Given the description of an element on the screen output the (x, y) to click on. 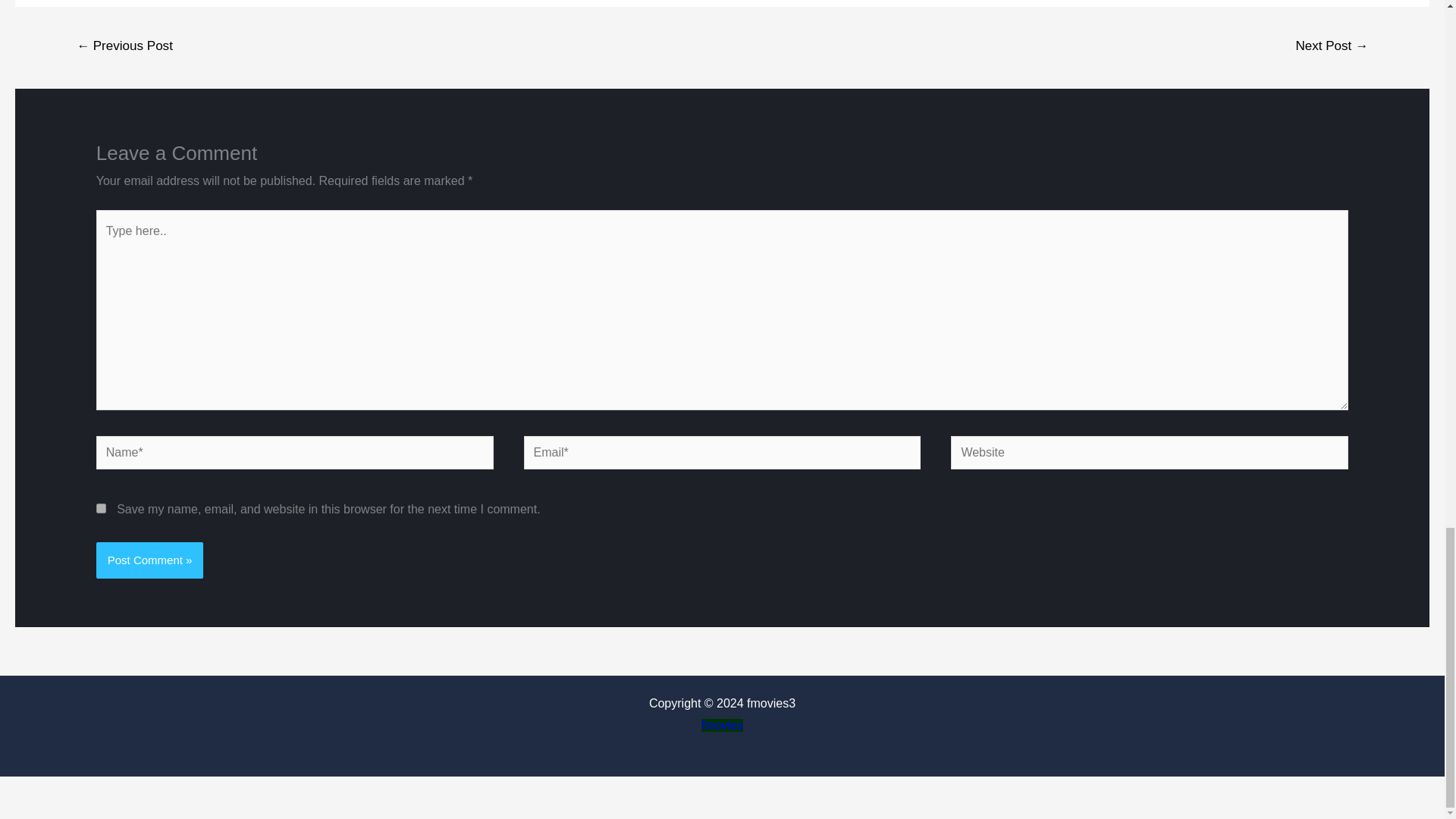
fmovies (721, 725)
yes (101, 508)
